Given the description of an element on the screen output the (x, y) to click on. 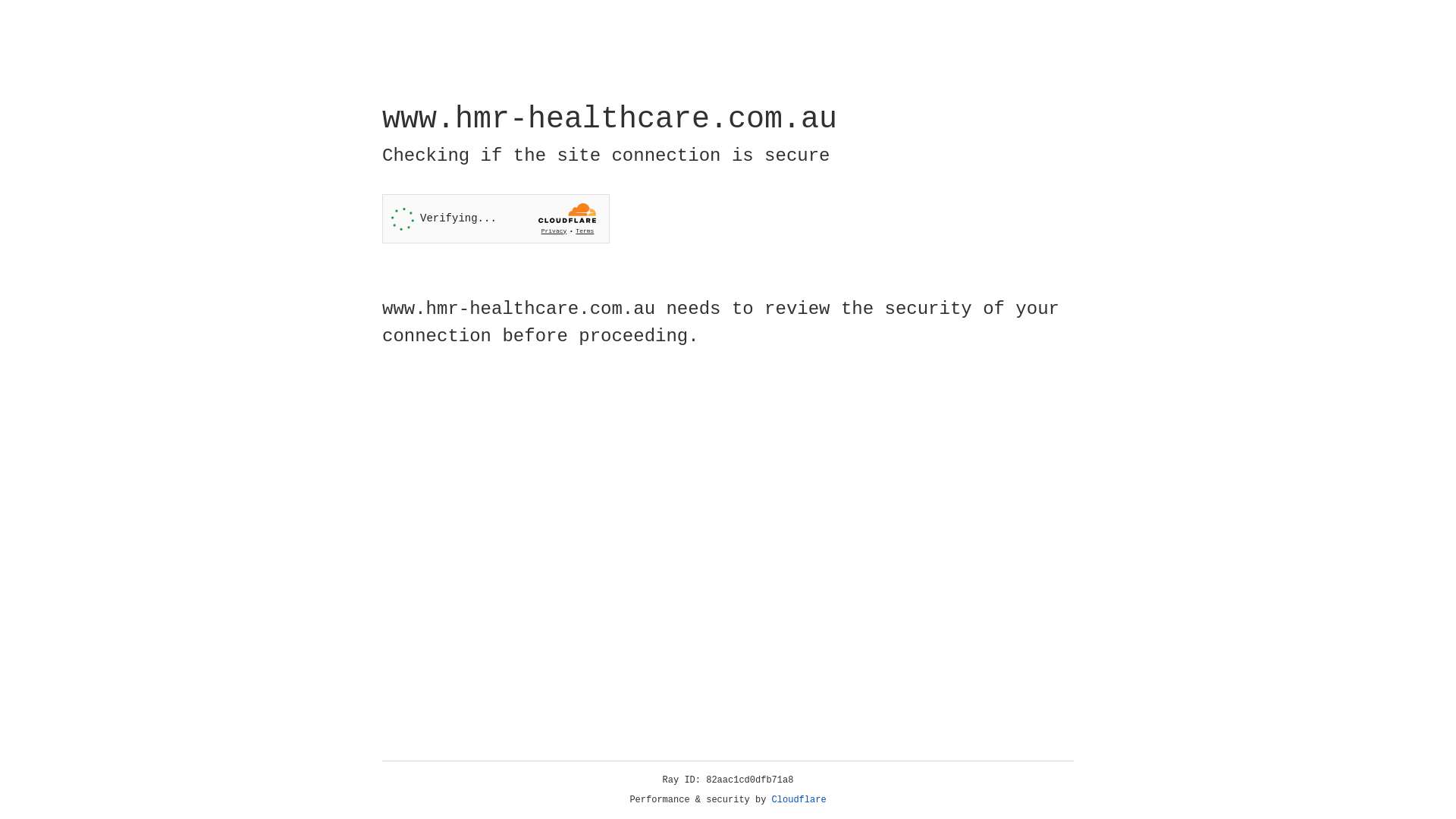
Cloudflare Element type: text (798, 799)
Widget containing a Cloudflare security challenge Element type: hover (495, 218)
